Given the description of an element on the screen output the (x, y) to click on. 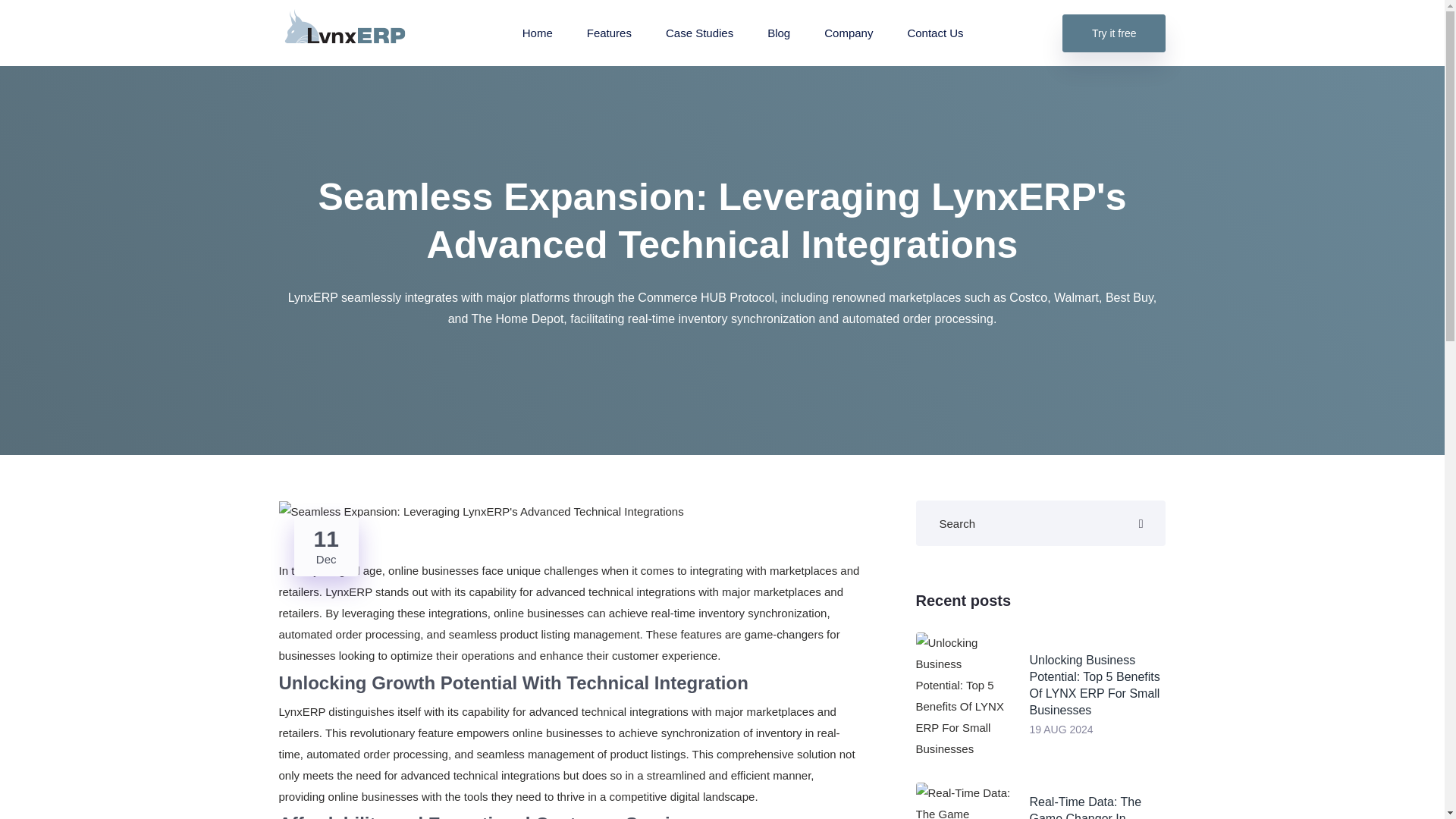
Blog (778, 32)
Case Studies (699, 32)
Try it free (326, 545)
Features (1114, 32)
Contact Us (608, 32)
Home (934, 32)
Features (537, 32)
Company (608, 32)
